Given the description of an element on the screen output the (x, y) to click on. 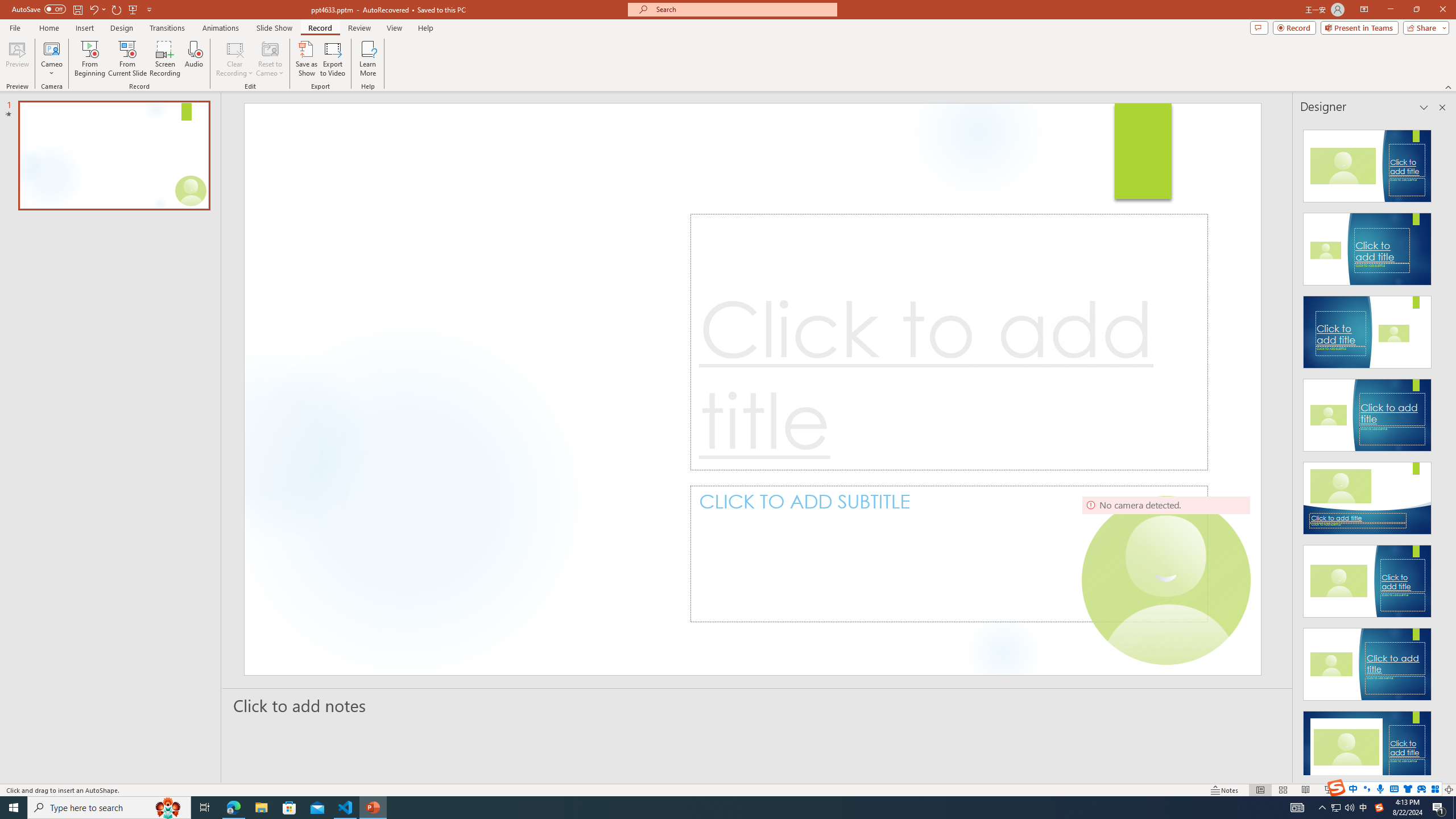
Design Idea (1366, 743)
Save as Show (306, 58)
Clear Recording (234, 58)
